Given the description of an element on the screen output the (x, y) to click on. 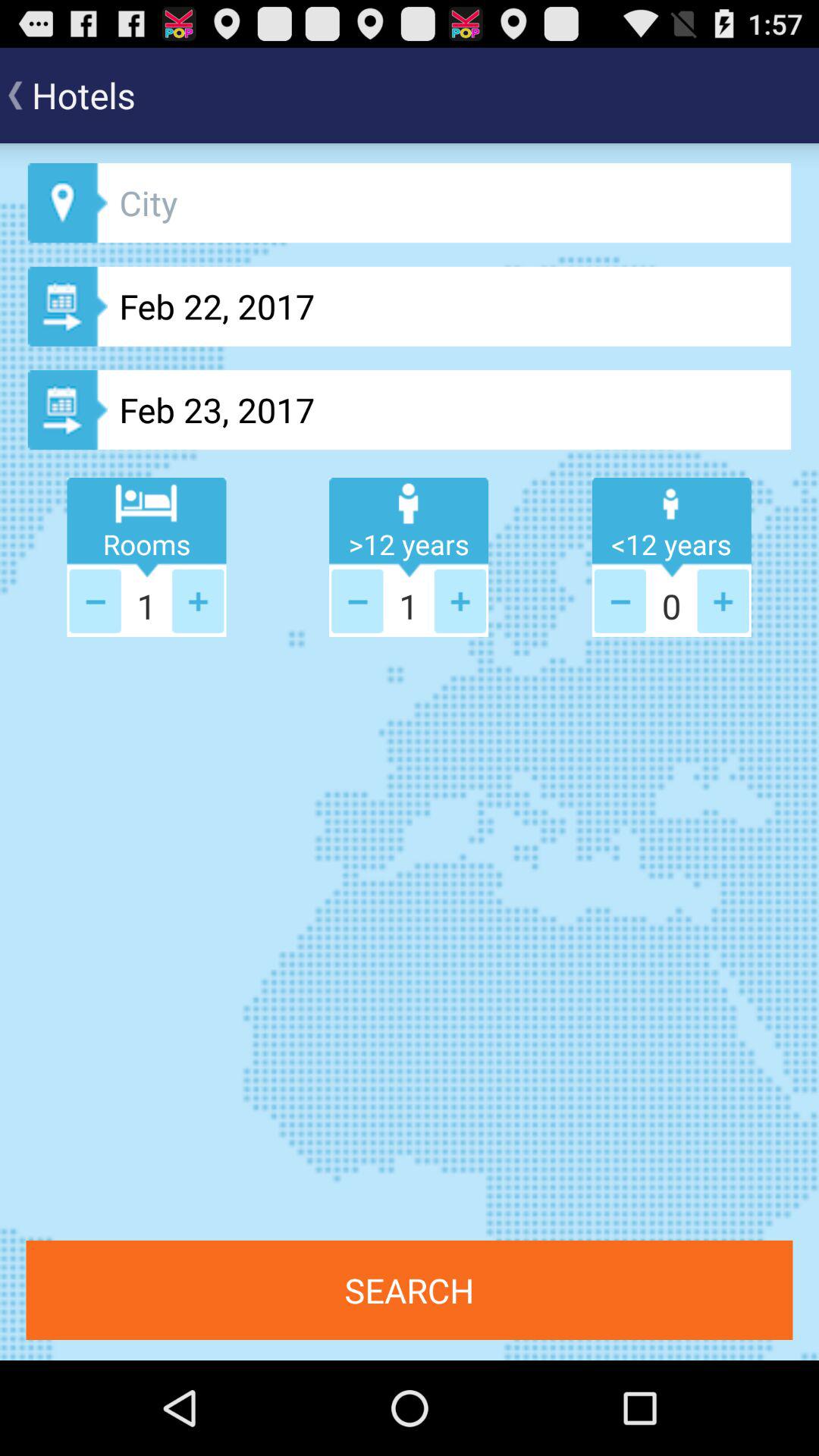
plus one to person older than 12 (723, 601)
